Given the description of an element on the screen output the (x, y) to click on. 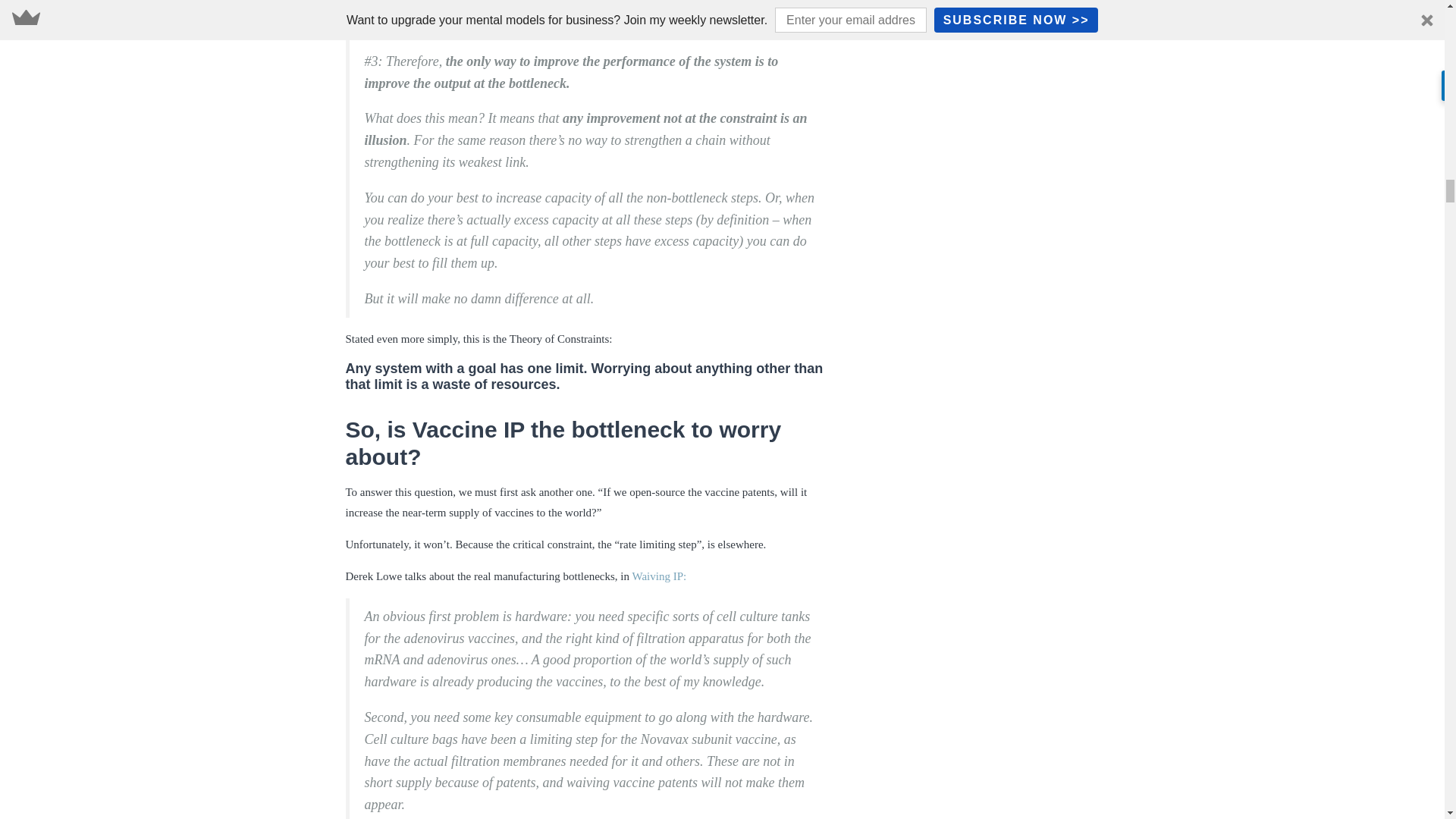
Waiving IP: (658, 576)
